Given the description of an element on the screen output the (x, y) to click on. 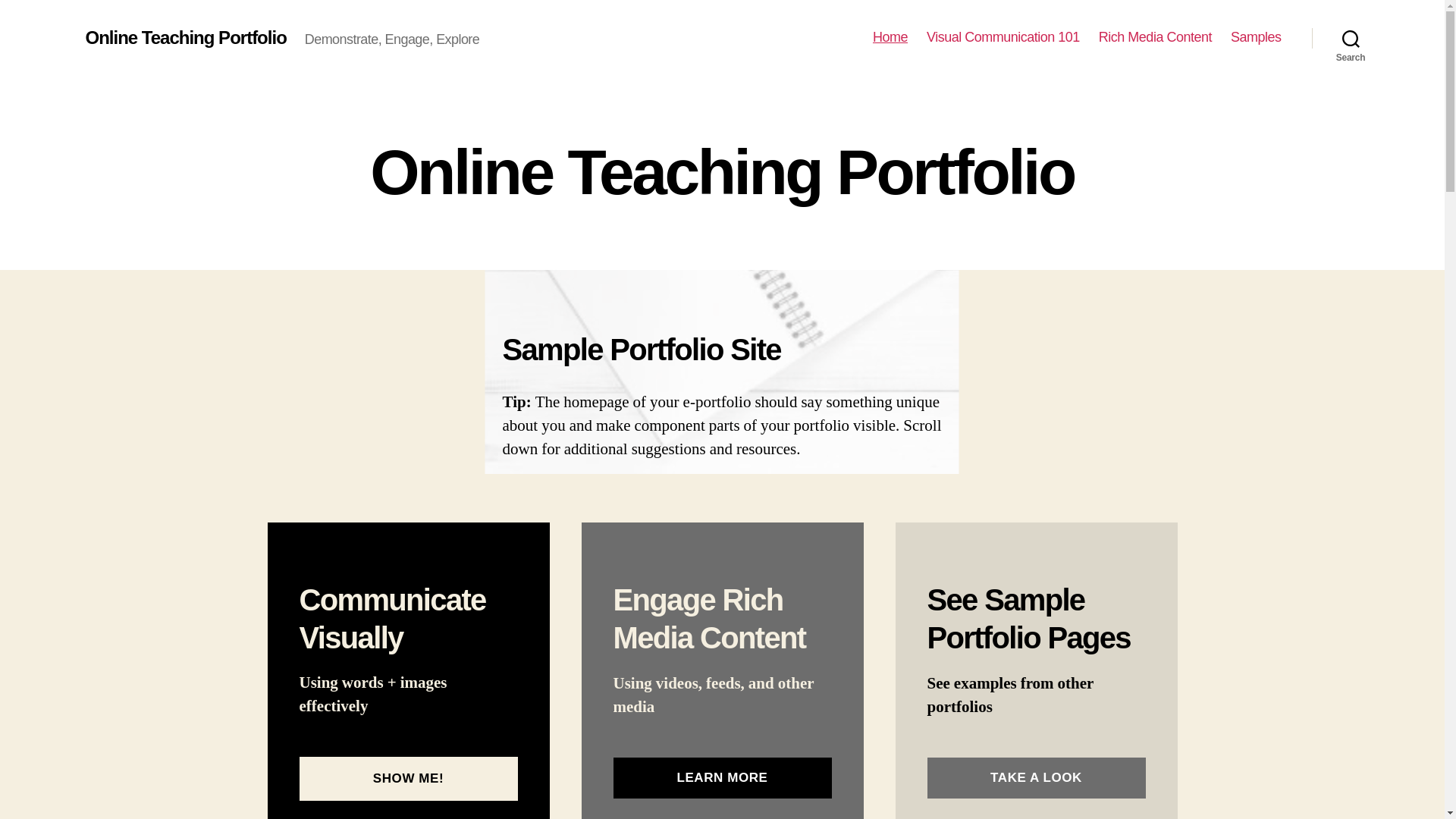
SHOW ME! (407, 778)
Rich Media Content (1155, 37)
Home (889, 37)
Visual Communication 101 (1003, 37)
LEARN MORE (721, 778)
TAKE A LOOK (1035, 778)
Samples (1255, 37)
Online Teaching Portfolio (184, 37)
Search (1350, 37)
